Given the description of an element on the screen output the (x, y) to click on. 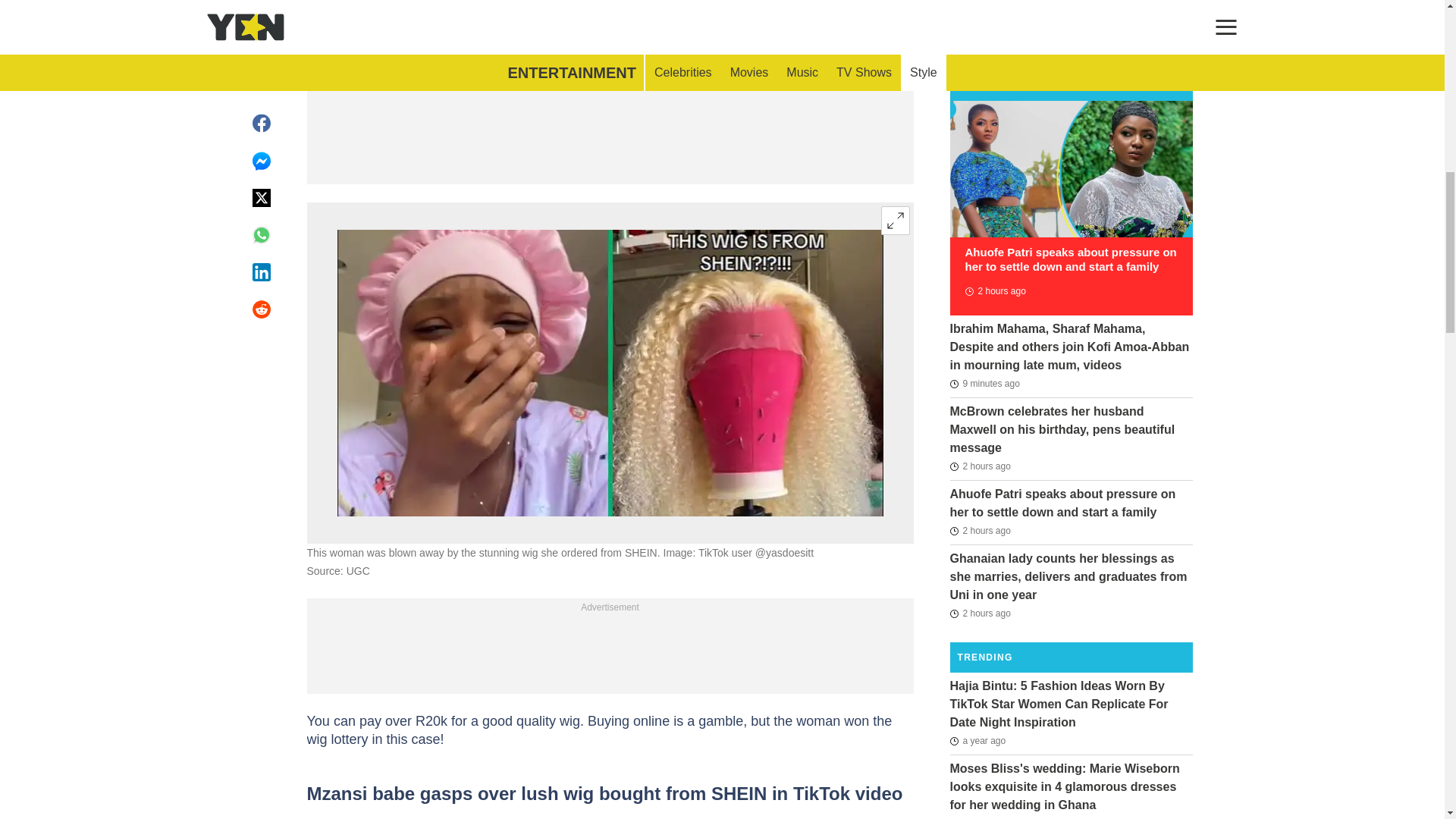
2024-08-03T18:43:05Z (979, 530)
2024-03-01T14:05:50Z (983, 816)
2024-08-03T18:43:05Z (994, 290)
Expand image (895, 220)
2024-08-03T18:43:11Z (979, 466)
2024-08-03T21:07:29Z (984, 383)
2024-08-03T18:43:00Z (979, 613)
2022-09-12T13:27:25Z (977, 741)
